Given the description of an element on the screen output the (x, y) to click on. 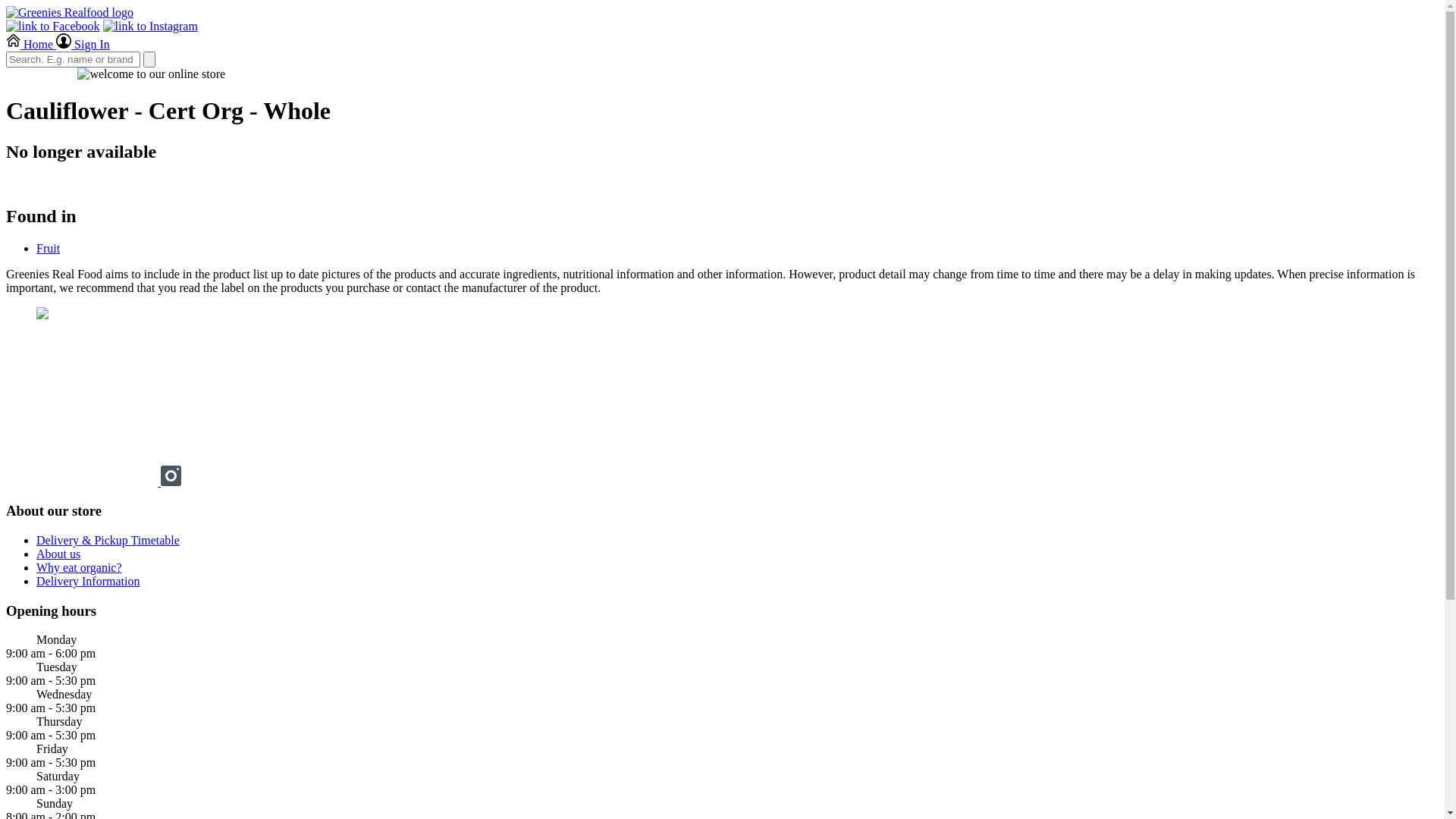
About us Element type: text (58, 553)
Why eat organic? Element type: text (79, 567)
Sign In Element type: text (82, 43)
Facebook Element type: hover (83, 481)
Home Element type: text (31, 43)
Delivery & Pickup Timetable Element type: text (107, 539)
Search Element type: hover (149, 59)
Instagram greeniesrealfooddarwin Element type: hover (170, 481)
Fruit Element type: text (47, 247)
Delivery Information Element type: text (87, 580)
